Given the description of an element on the screen output the (x, y) to click on. 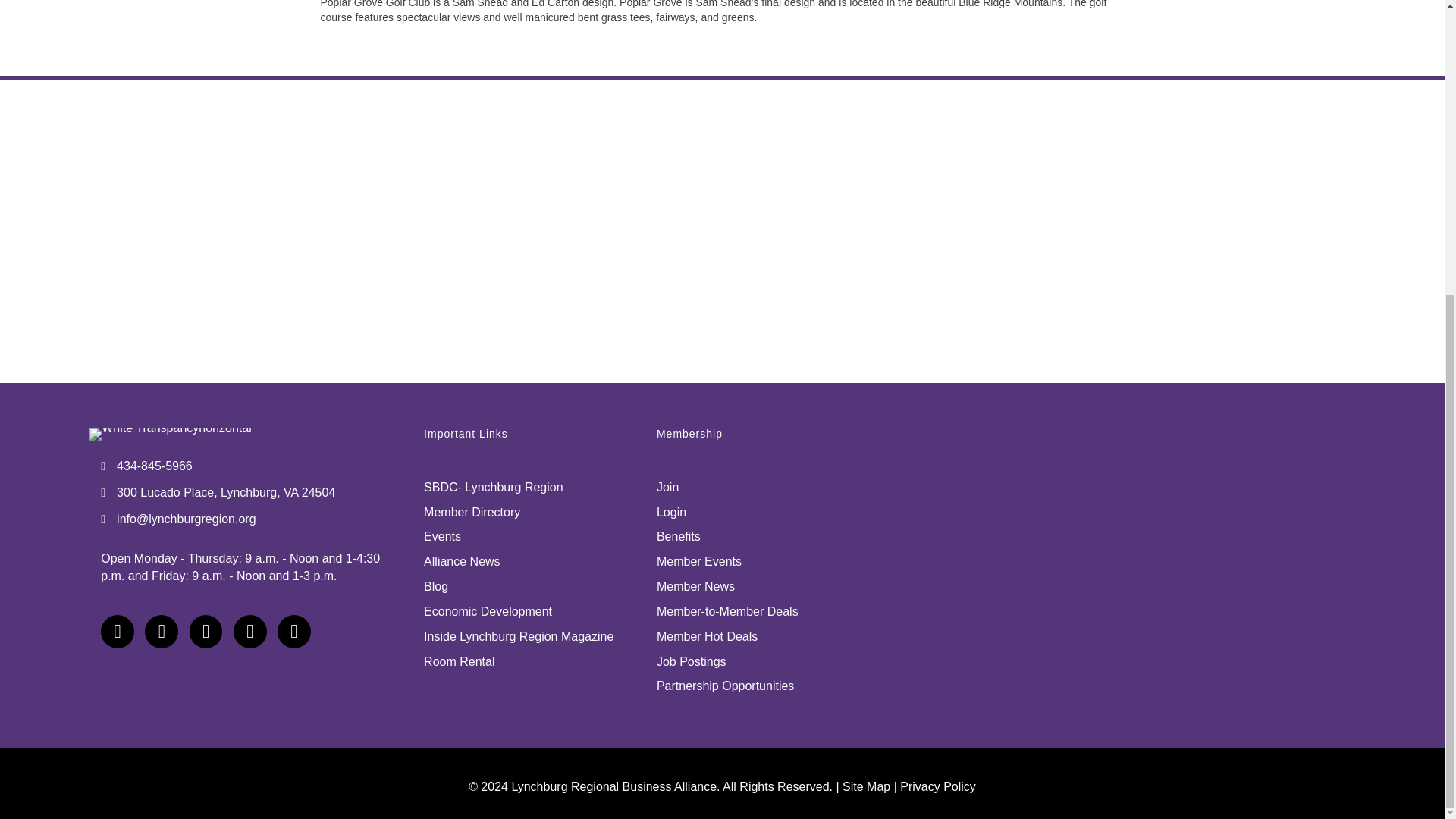
White Transpancyhorizontal (169, 434)
